Given the description of an element on the screen output the (x, y) to click on. 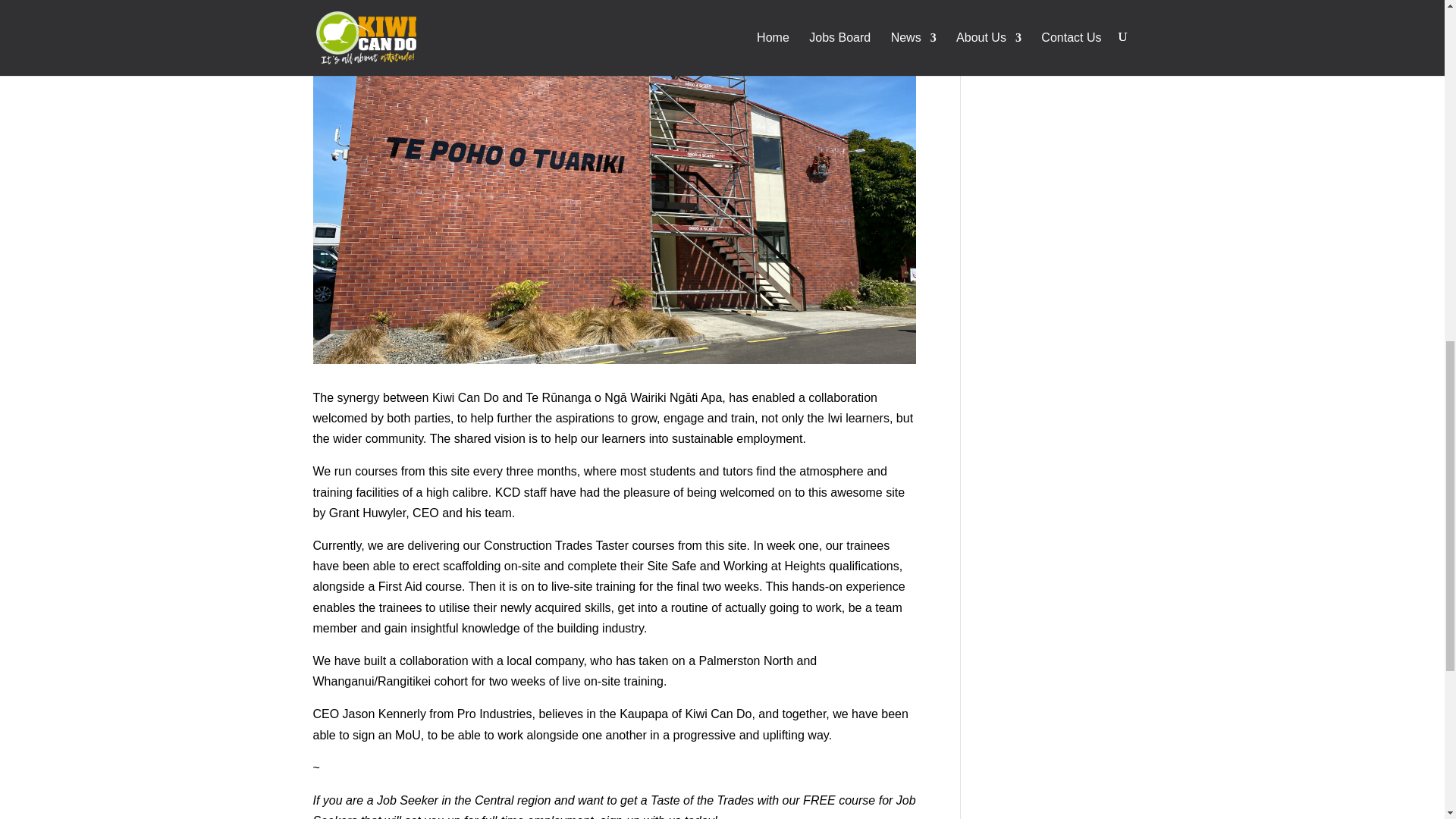
sign-up (619, 816)
